Given the description of an element on the screen output the (x, y) to click on. 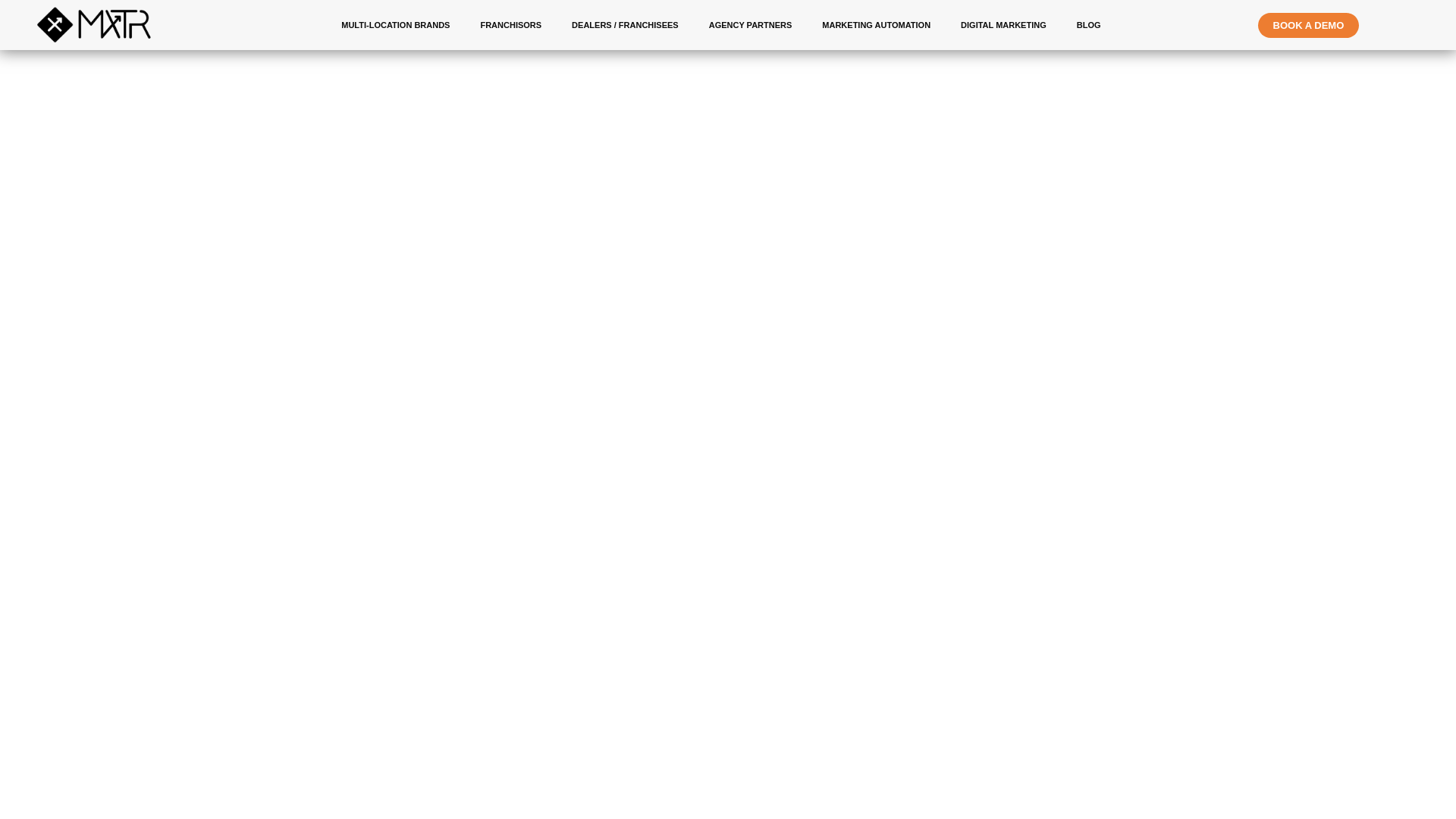
MULTI-LOCATION BRANDS (395, 24)
FRANCHISORS (510, 24)
BLOG (1088, 24)
AGENCY PARTNERS (751, 24)
MARKETING AUTOMATION (875, 24)
DIGITAL MARKETING (1002, 24)
